Given the description of an element on the screen output the (x, y) to click on. 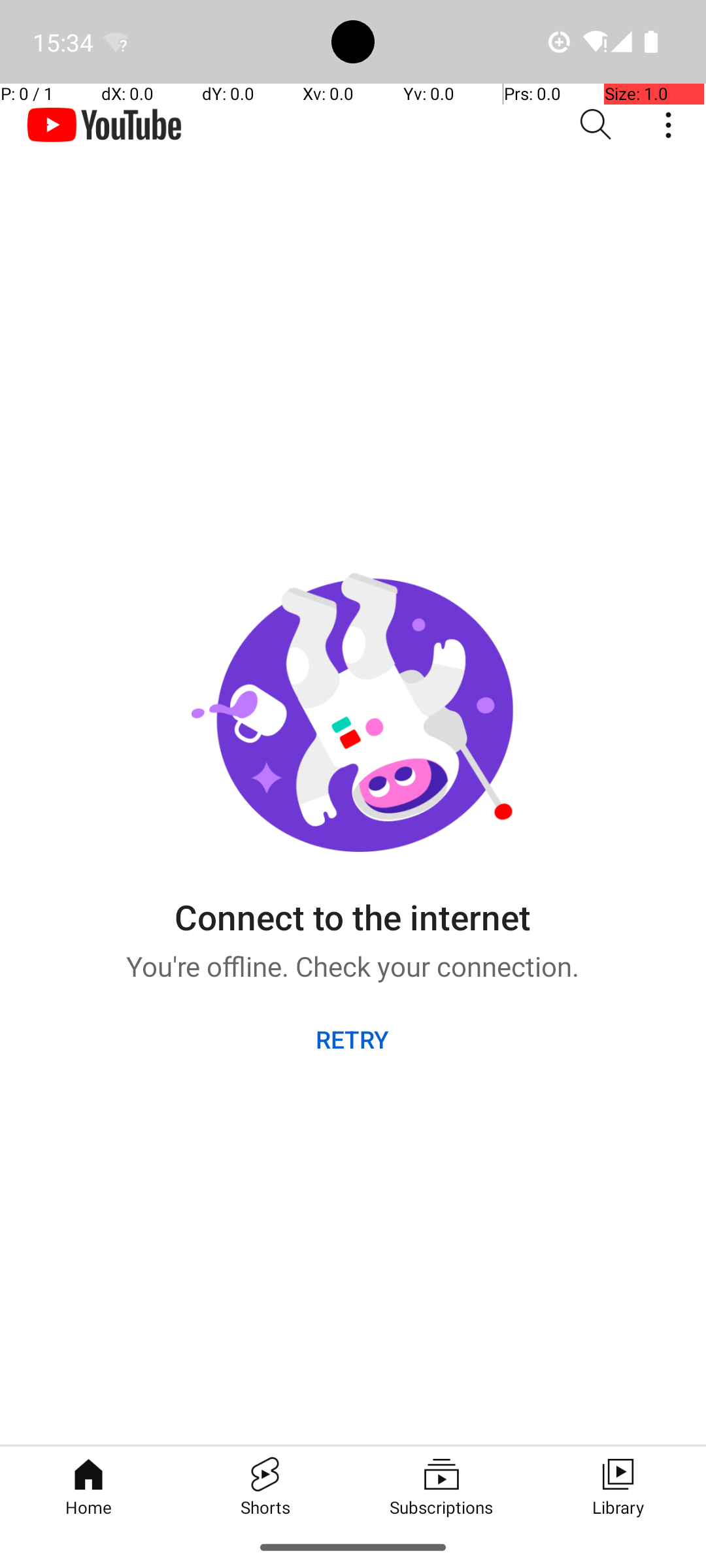
Connect to the internet Element type: android.widget.TextView (351, 906)
You're offline. Check your connection. Element type: android.widget.TextView (352, 962)
RETRY Element type: android.widget.TextView (352, 1039)
